Given the description of an element on the screen output the (x, y) to click on. 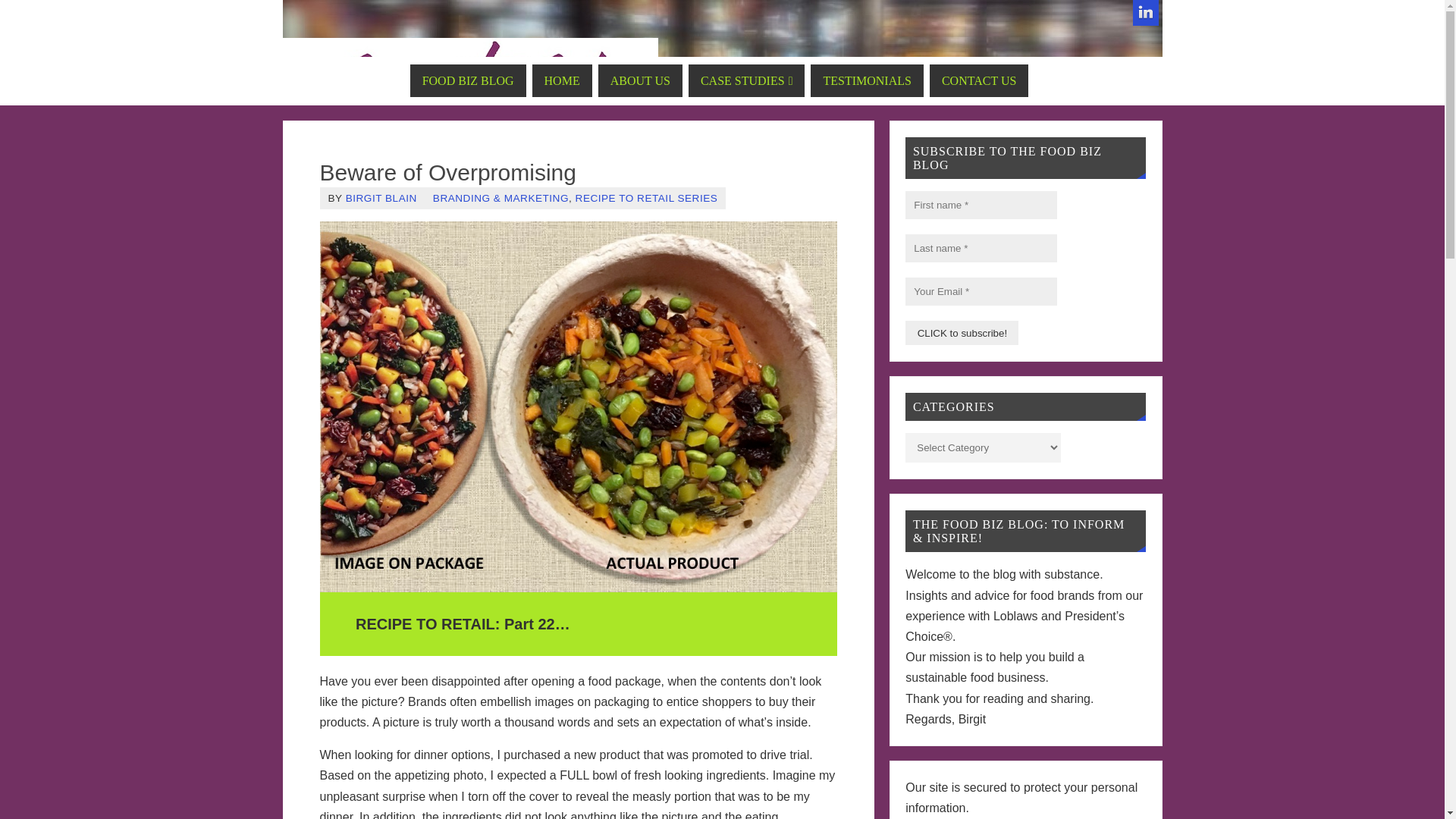
FOOD BIZ BLOG (467, 80)
CLICK to subscribe! (961, 332)
CONTACT US (978, 80)
BIRGIT BLAIN (381, 197)
First name (981, 204)
CASE STUDIES (746, 80)
Last name (981, 248)
View all posts by Birgit Blain (381, 197)
RECIPE TO RETAIL SERIES (646, 197)
HOME (562, 80)
